Given the description of an element on the screen output the (x, y) to click on. 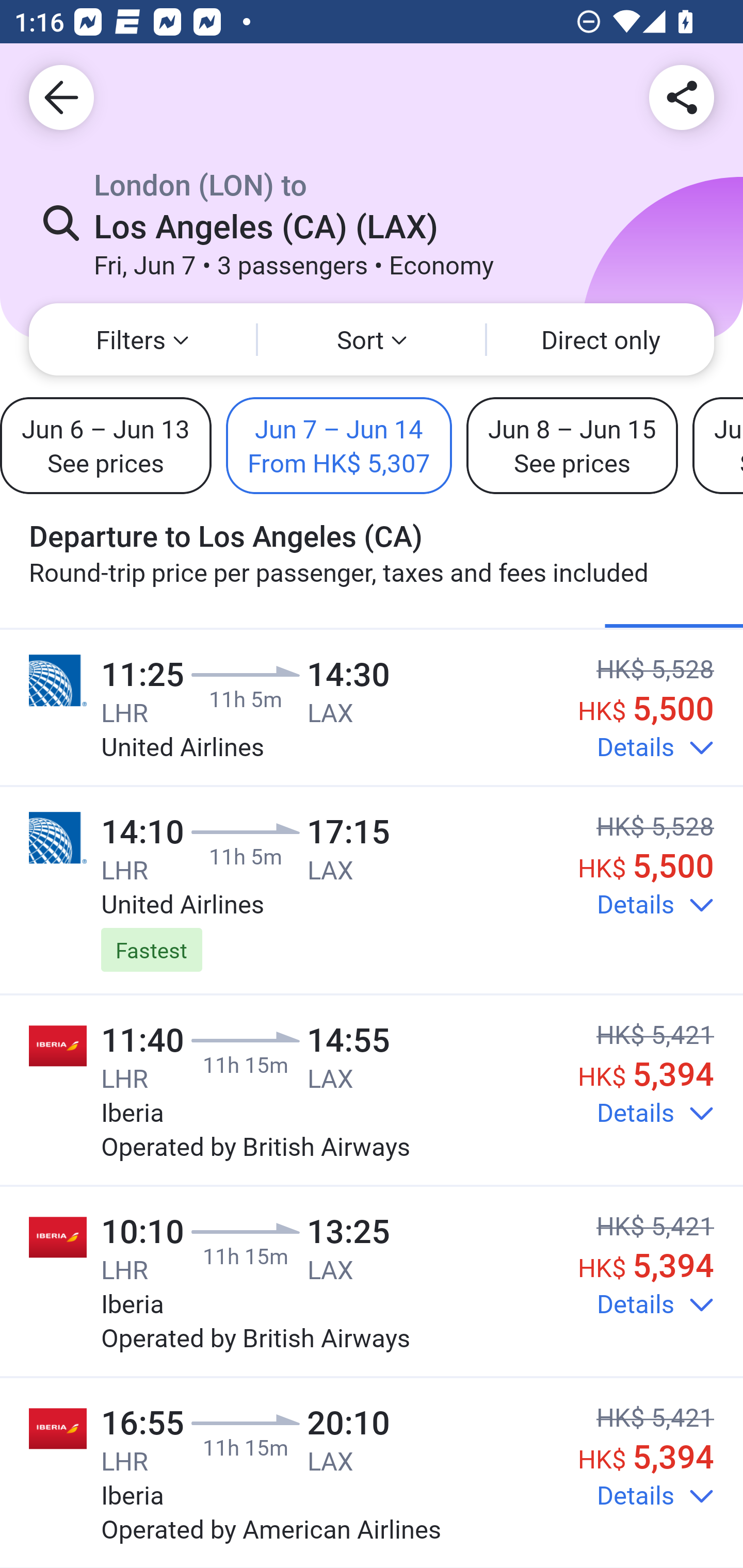
Filters (141, 339)
Sort (371, 339)
Direct only (600, 339)
Jun 6 – Jun 13 See prices (105, 444)
Jun 7 – Jun 14 From HK$ 5,307 (338, 444)
Jun 8 – Jun 15 See prices (571, 444)
